Given the description of an element on the screen output the (x, y) to click on. 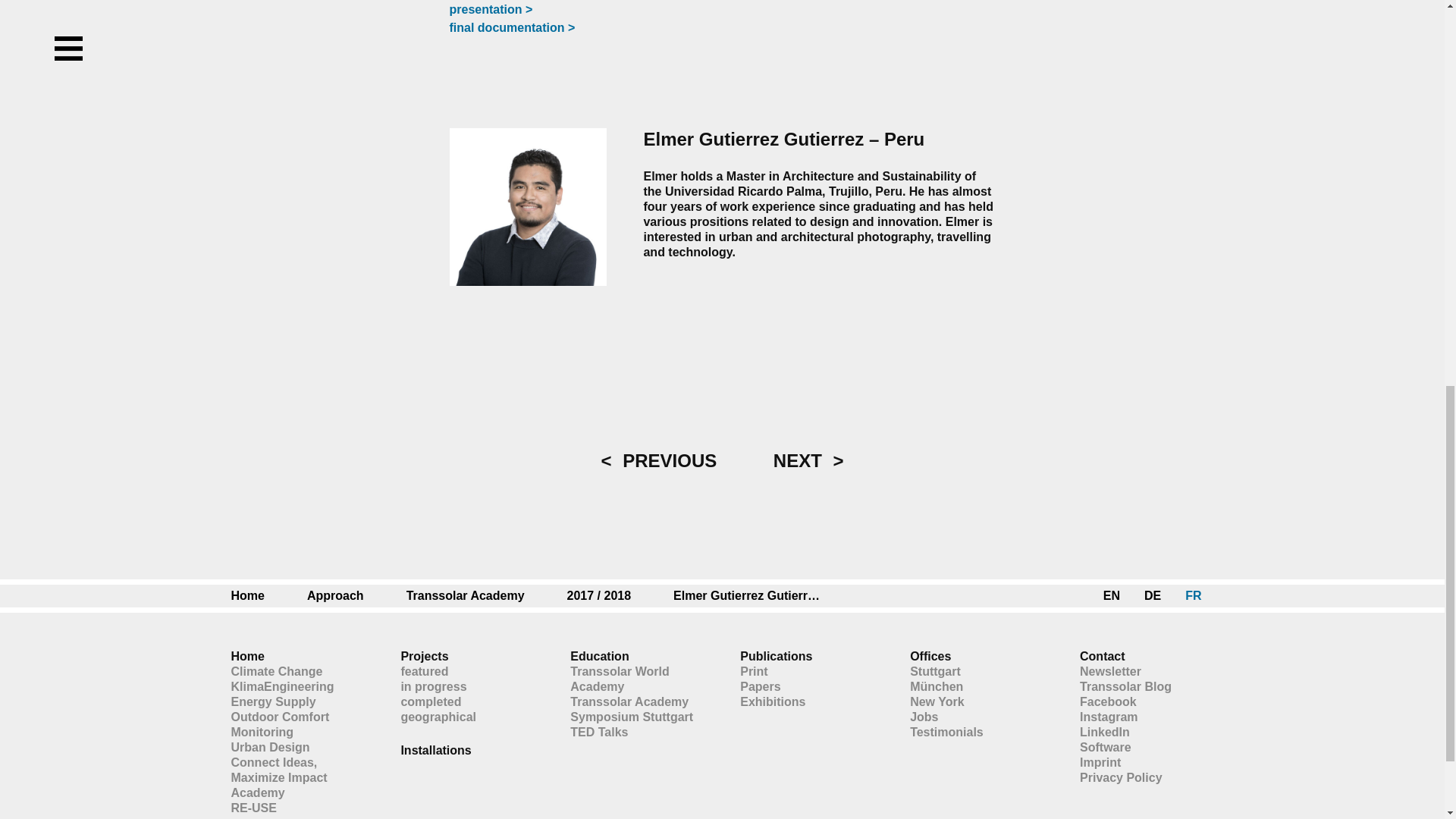
NEXT (808, 461)
Urban Design (297, 747)
Home (262, 595)
KlimaEngineering (297, 686)
PREVIOUS (657, 461)
Transsolar Academy (480, 595)
Monitoring (297, 732)
FR (1192, 595)
Academy (297, 792)
DE (1152, 595)
in progress (467, 686)
geographical (467, 717)
featured (467, 671)
completed (467, 702)
Energy Supply (297, 702)
